Given the description of an element on the screen output the (x, y) to click on. 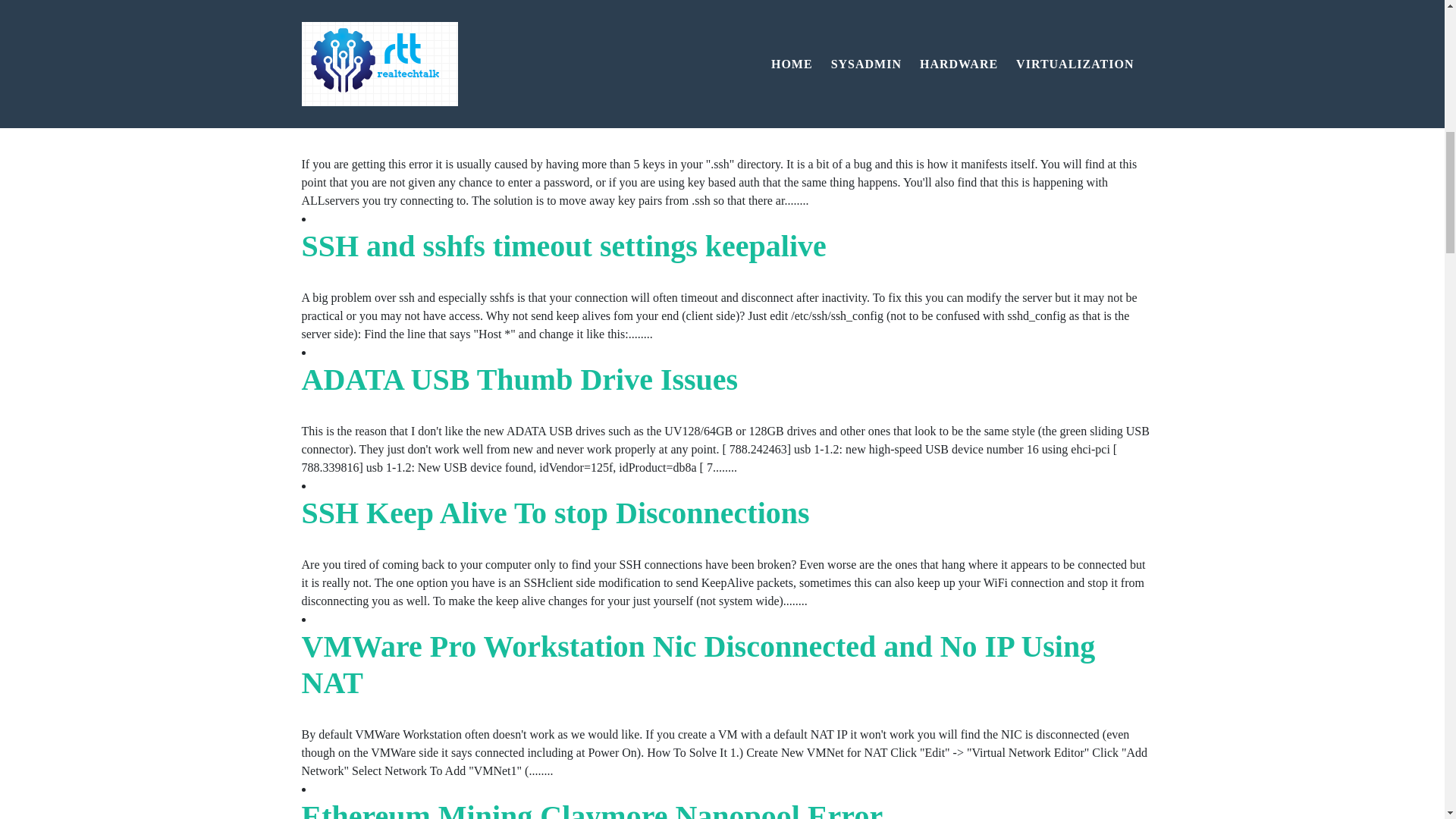
Ethereum Mining Claymore Nanopool Error (592, 809)
SSH and sshfs timeout settings keepalive (564, 245)
SSH Keep Alive To stop Disconnections (555, 512)
VMWare Pro Workstation Nic Disconnected and No IP Using NAT (698, 664)
ADATA USB Thumb Drive Issues (519, 379)
